Given the description of an element on the screen output the (x, y) to click on. 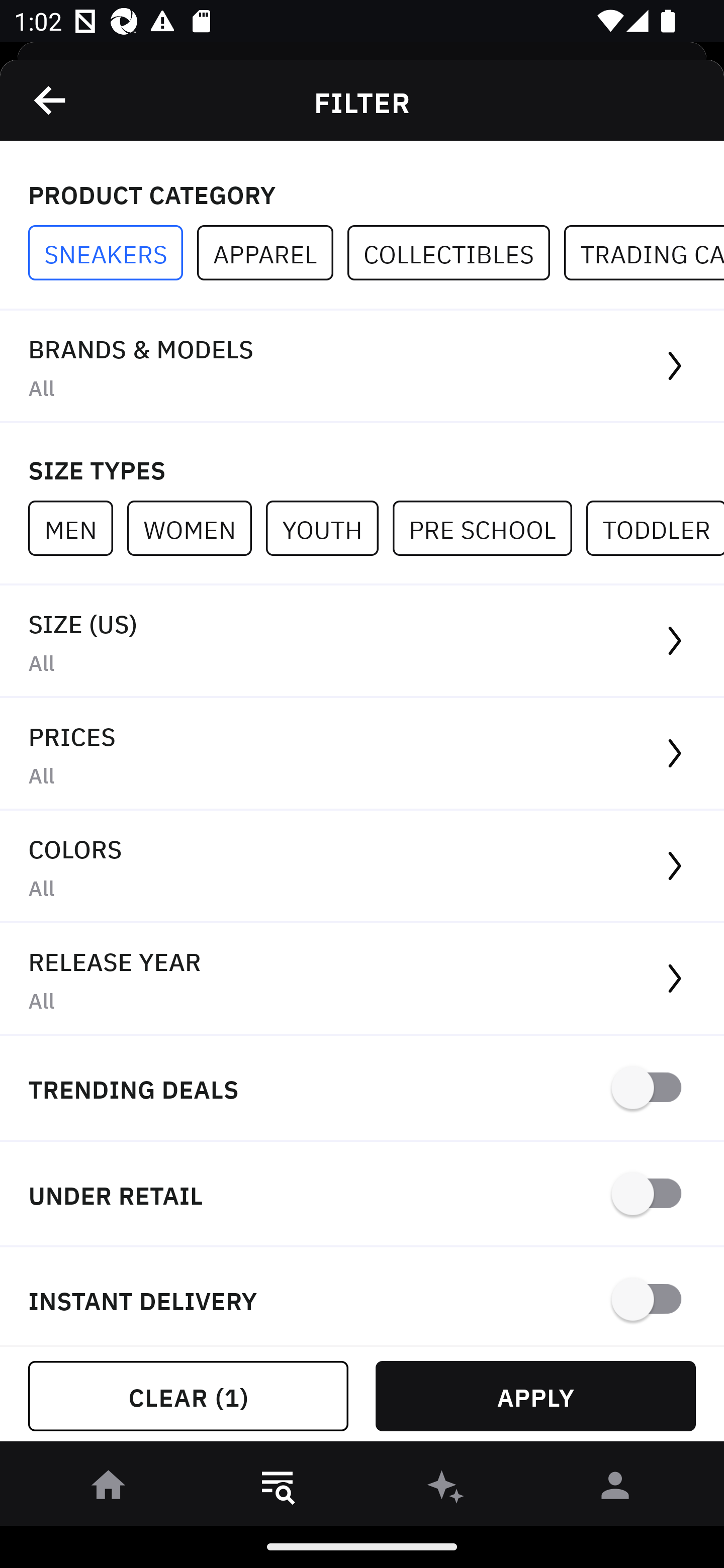
 (50, 100)
SNEAKERS (112, 252)
APPAREL (271, 252)
COLLECTIBLES (455, 252)
TRADING CARDS (643, 252)
BRANDS & MODELS All (362, 366)
MEN (77, 527)
WOMEN (196, 527)
YOUTH (328, 527)
PRE SCHOOL (489, 527)
TODDLER (655, 527)
SIZE (US) All (362, 640)
PRICES All (362, 753)
COLORS All (362, 866)
RELEASE YEAR All (362, 979)
TRENDING DEALS (362, 1088)
UNDER RETAIL (362, 1194)
INSTANT DELIVERY (362, 1296)
CLEAR (1) (188, 1396)
APPLY (535, 1396)
󰋜 (108, 1488)
󱎸 (277, 1488)
󰫢 (446, 1488)
󰀄 (615, 1488)
